Given the description of an element on the screen output the (x, y) to click on. 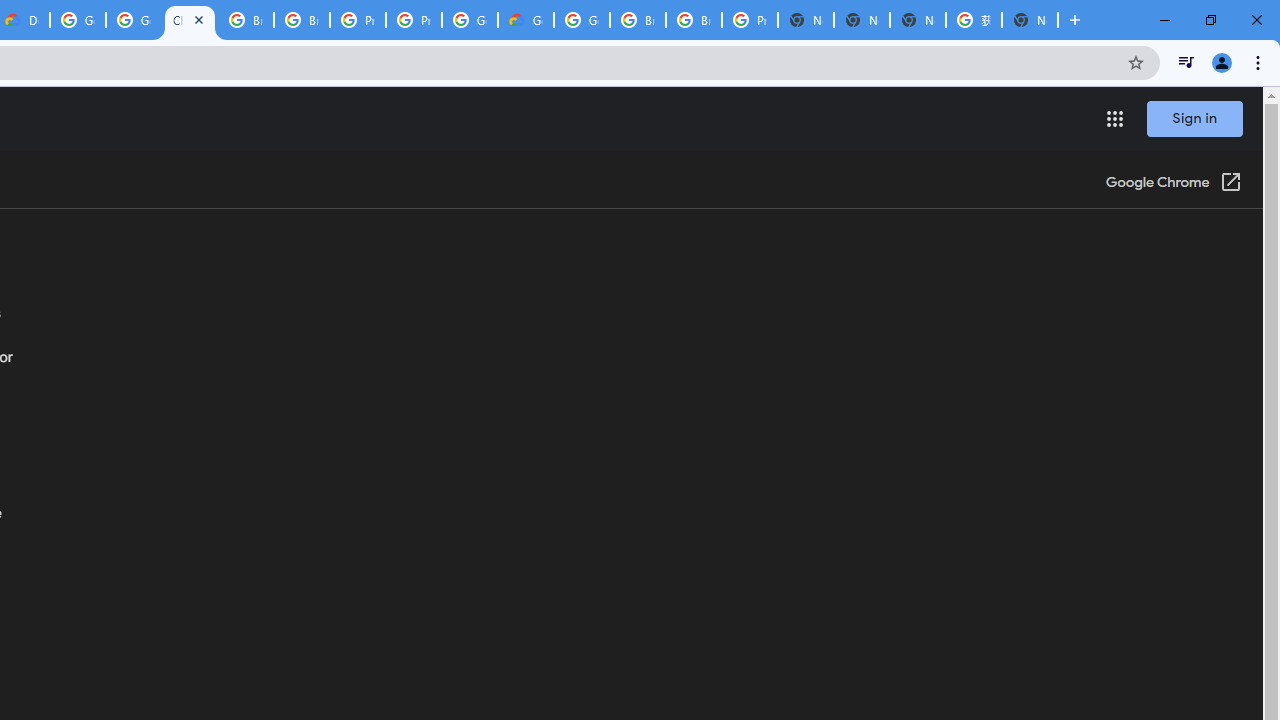
Google Chrome (Open in a new window) (1173, 183)
Google Cloud Platform (582, 20)
Google Cloud Platform (469, 20)
Google Cloud Platform (77, 20)
New Tab (1030, 20)
Google Cloud Estimate Summary (525, 20)
Browse Chrome as a guest - Computer - Google Chrome Help (301, 20)
